Given the description of an element on the screen output the (x, y) to click on. 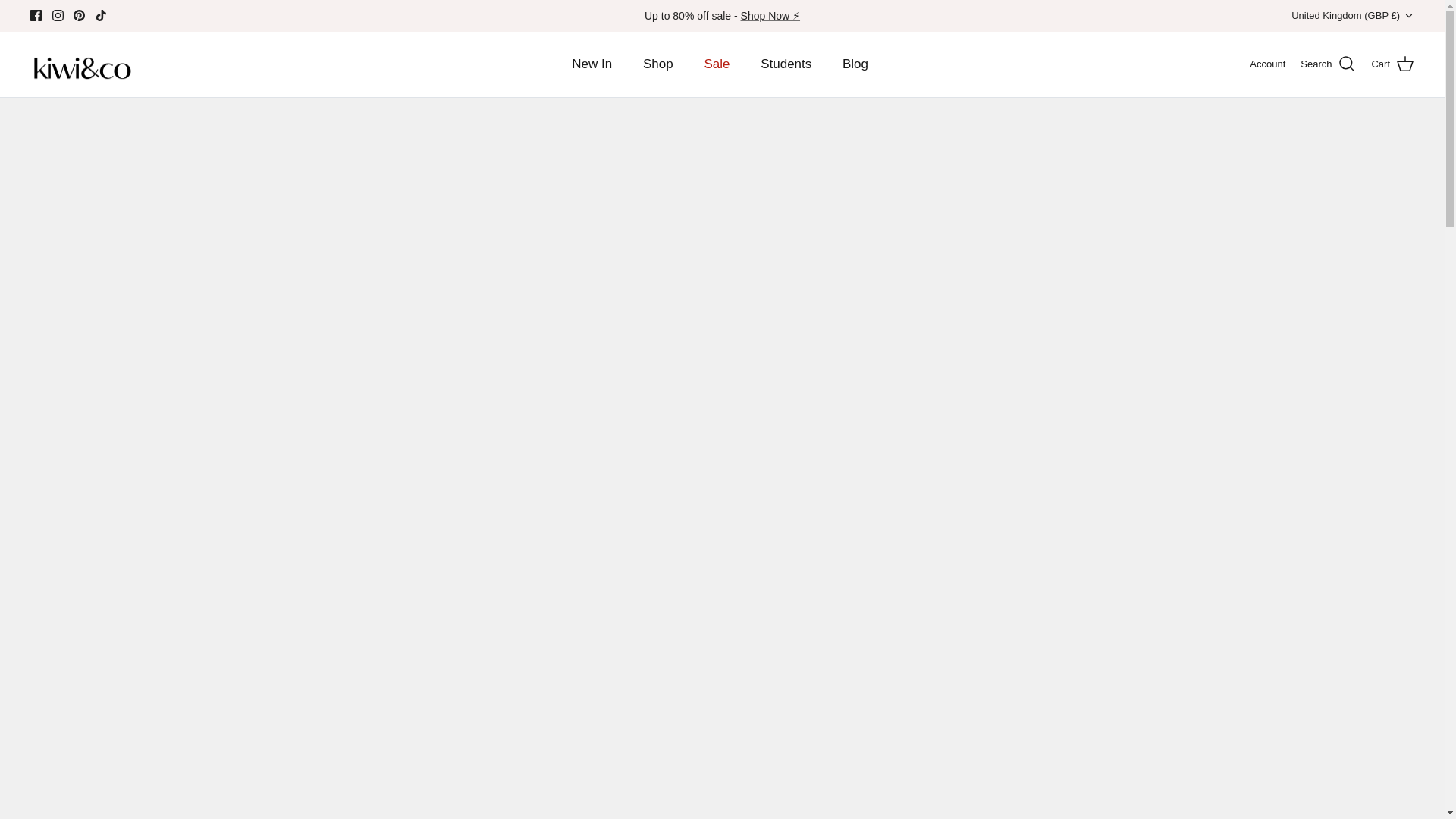
Down (1408, 15)
Facebook (36, 15)
Sale (770, 15)
Facebook (36, 15)
Pinterest (79, 15)
Pinterest (79, 15)
Instagram (58, 15)
Instagram (58, 15)
